Given the description of an element on the screen output the (x, y) to click on. 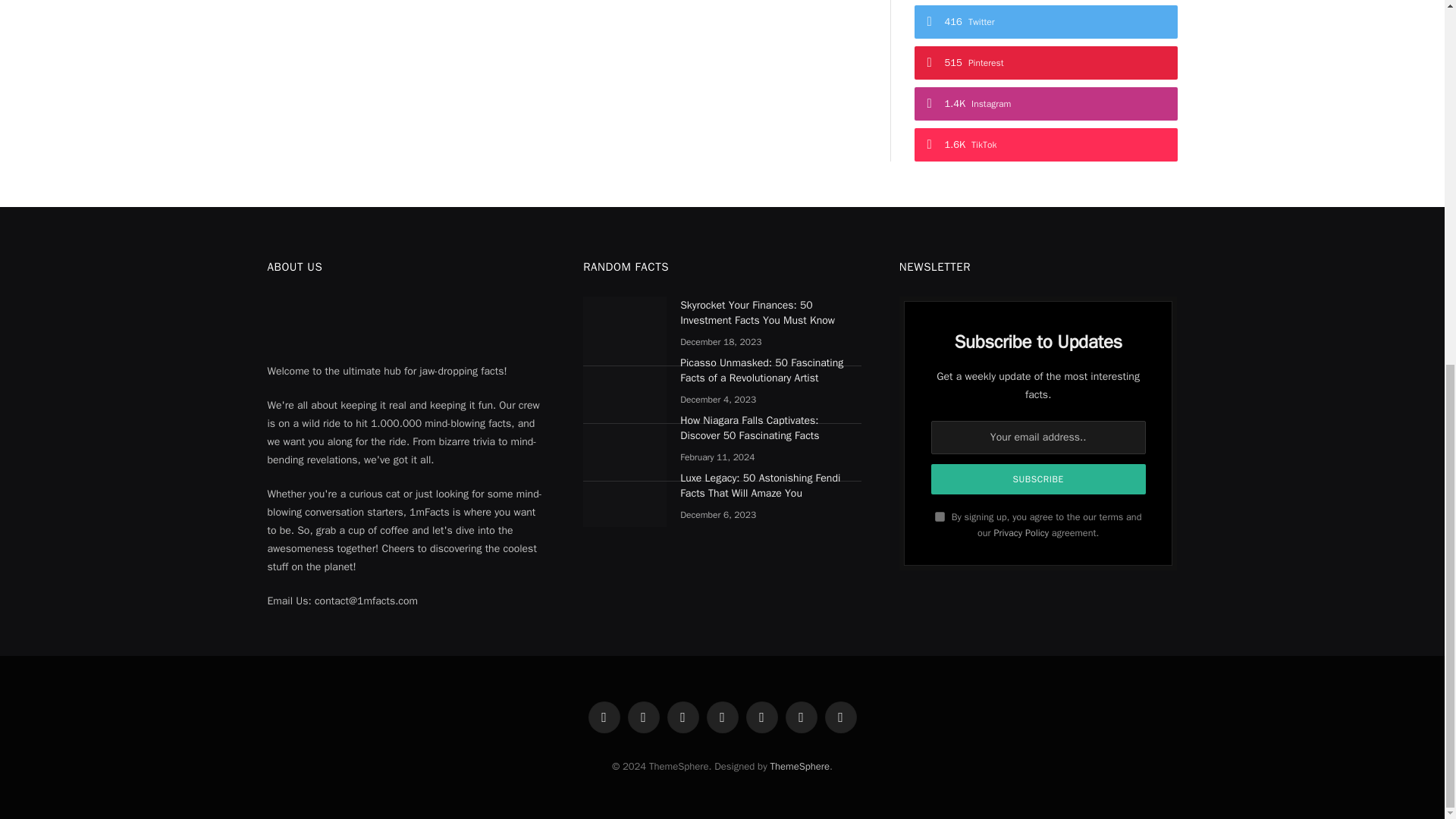
Subscribe (1038, 479)
on (939, 516)
